Given the description of an element on the screen output the (x, y) to click on. 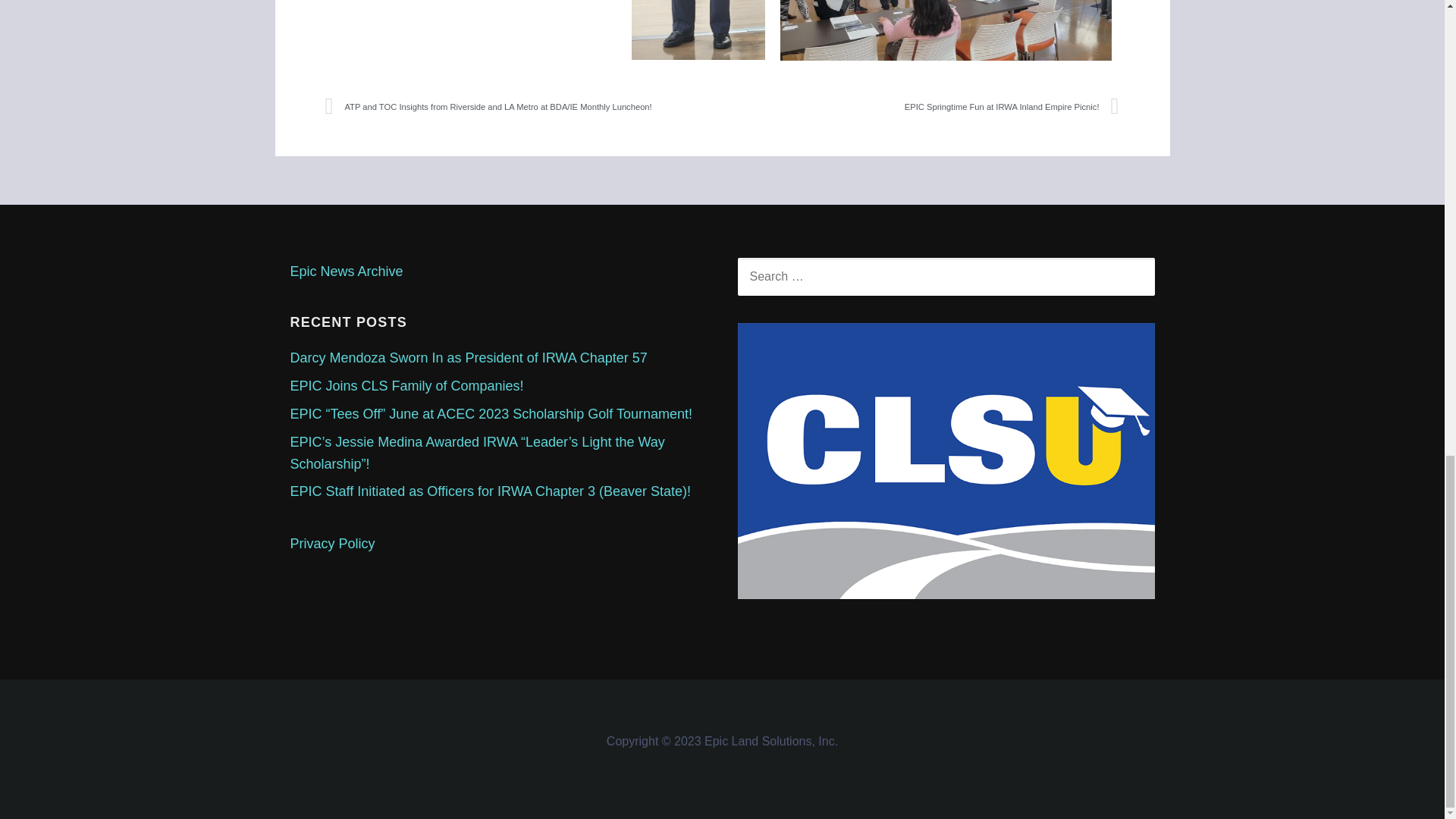
EPIC Joins CLS Family of Companies! (405, 385)
Privacy Policy (331, 543)
Darcy Mendoza Sworn In as President of IRWA Chapter 57 (467, 357)
Epic News Archive (346, 271)
EPIC Springtime Fun at IRWA Inland Empire Picnic! (920, 106)
